Given the description of an element on the screen output the (x, y) to click on. 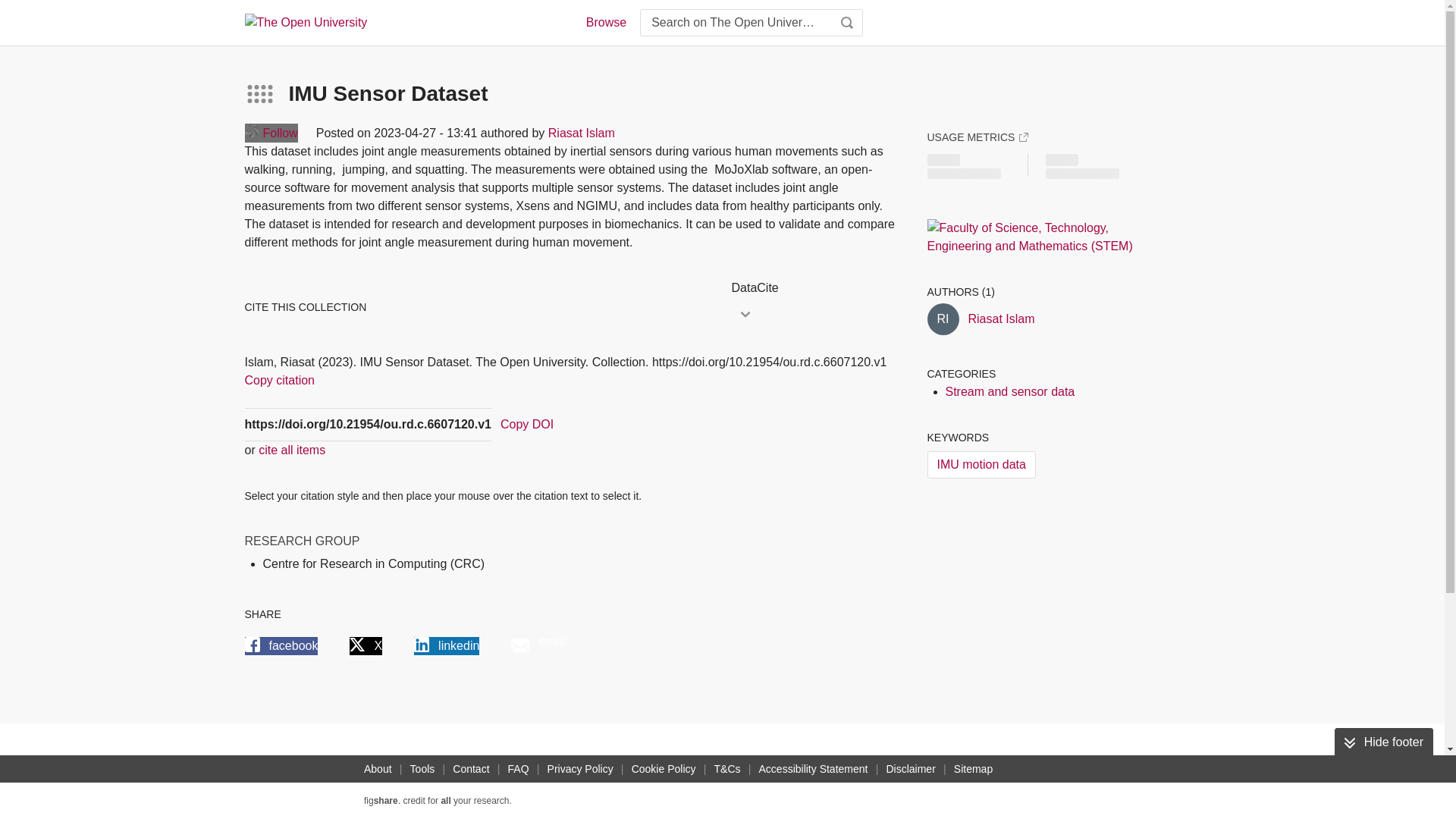
Stream and sensor data (1009, 391)
DataCite (812, 288)
cite all items (291, 450)
Copy DOI (526, 424)
email (539, 646)
facebook (280, 646)
Browse (605, 22)
linkedin (446, 646)
Riasat Islam (942, 318)
X (365, 646)
Follow (270, 132)
Riasat Islam (581, 133)
Riasat Islam (1000, 319)
USAGE METRICS (976, 136)
Copy citation (279, 380)
